Given the description of an element on the screen output the (x, y) to click on. 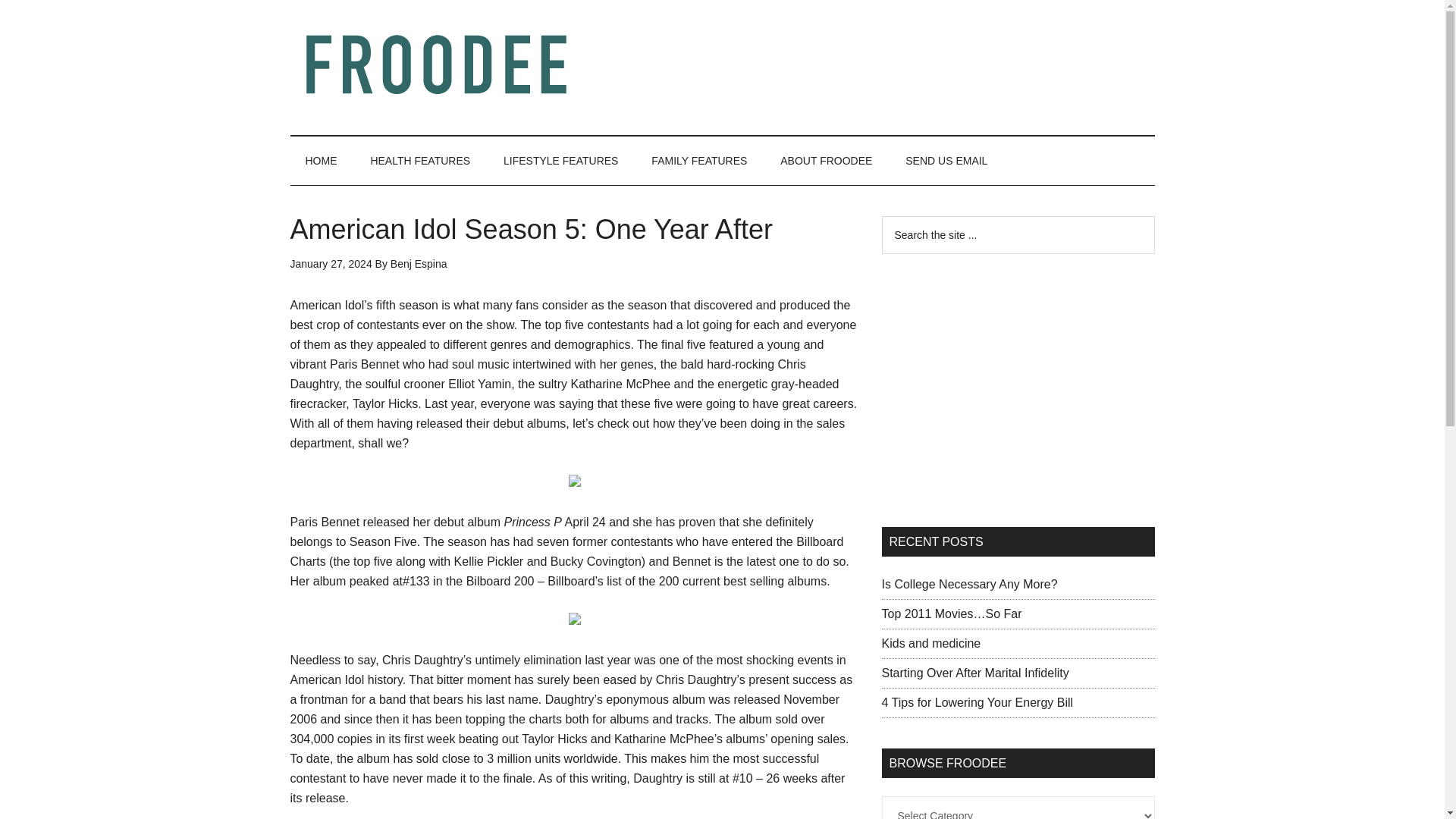
SEND US EMAIL (946, 160)
Kids and medicine (929, 643)
ABOUT FROODEE (825, 160)
Advertisement (878, 64)
Starting Over After Marital Infidelity (974, 672)
HEALTH FEATURES (419, 160)
Benj Espina (418, 263)
FAMILY FEATURES (698, 160)
